Given the description of an element on the screen output the (x, y) to click on. 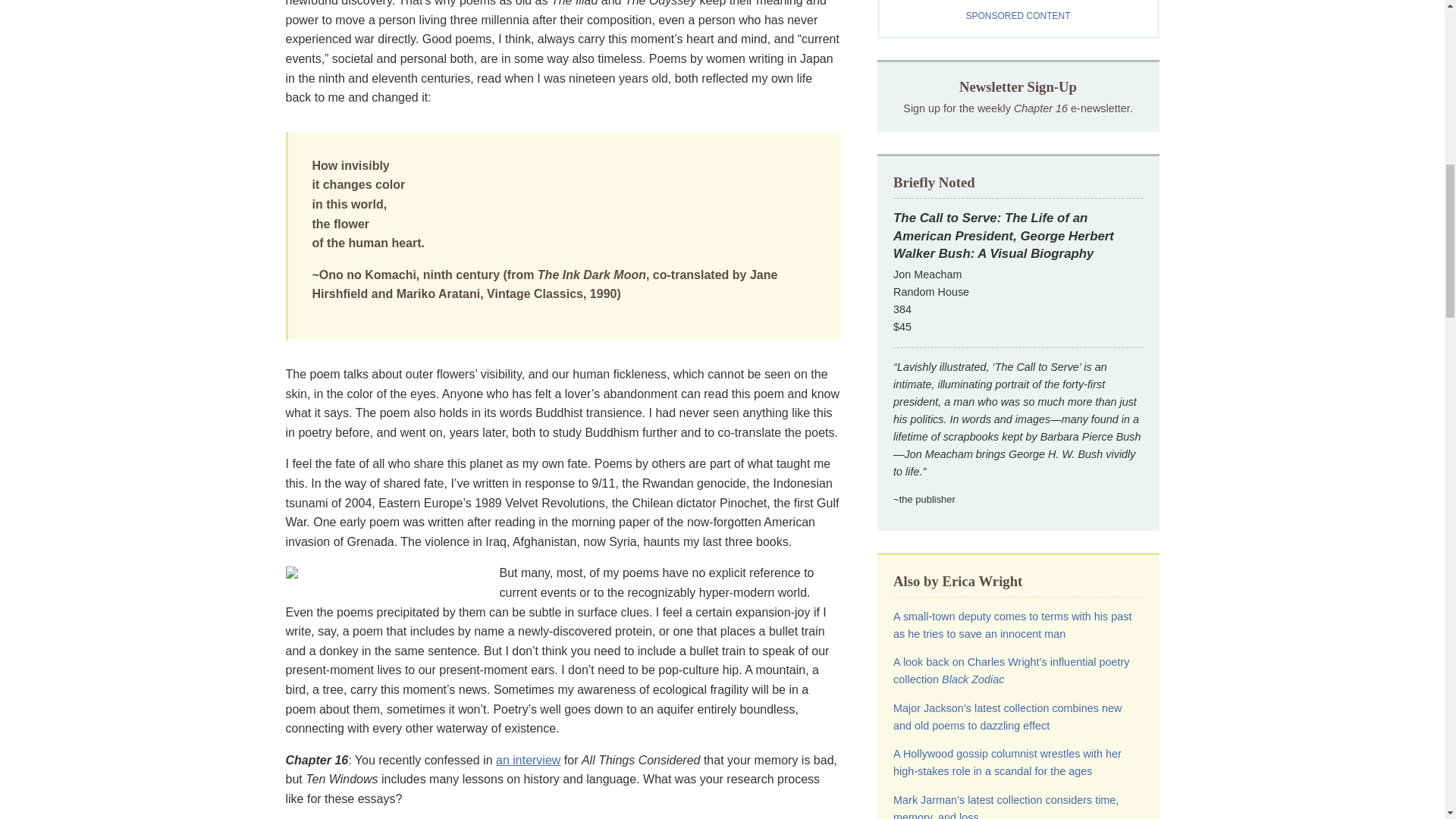
an interview (528, 759)
